Given the description of an element on the screen output the (x, y) to click on. 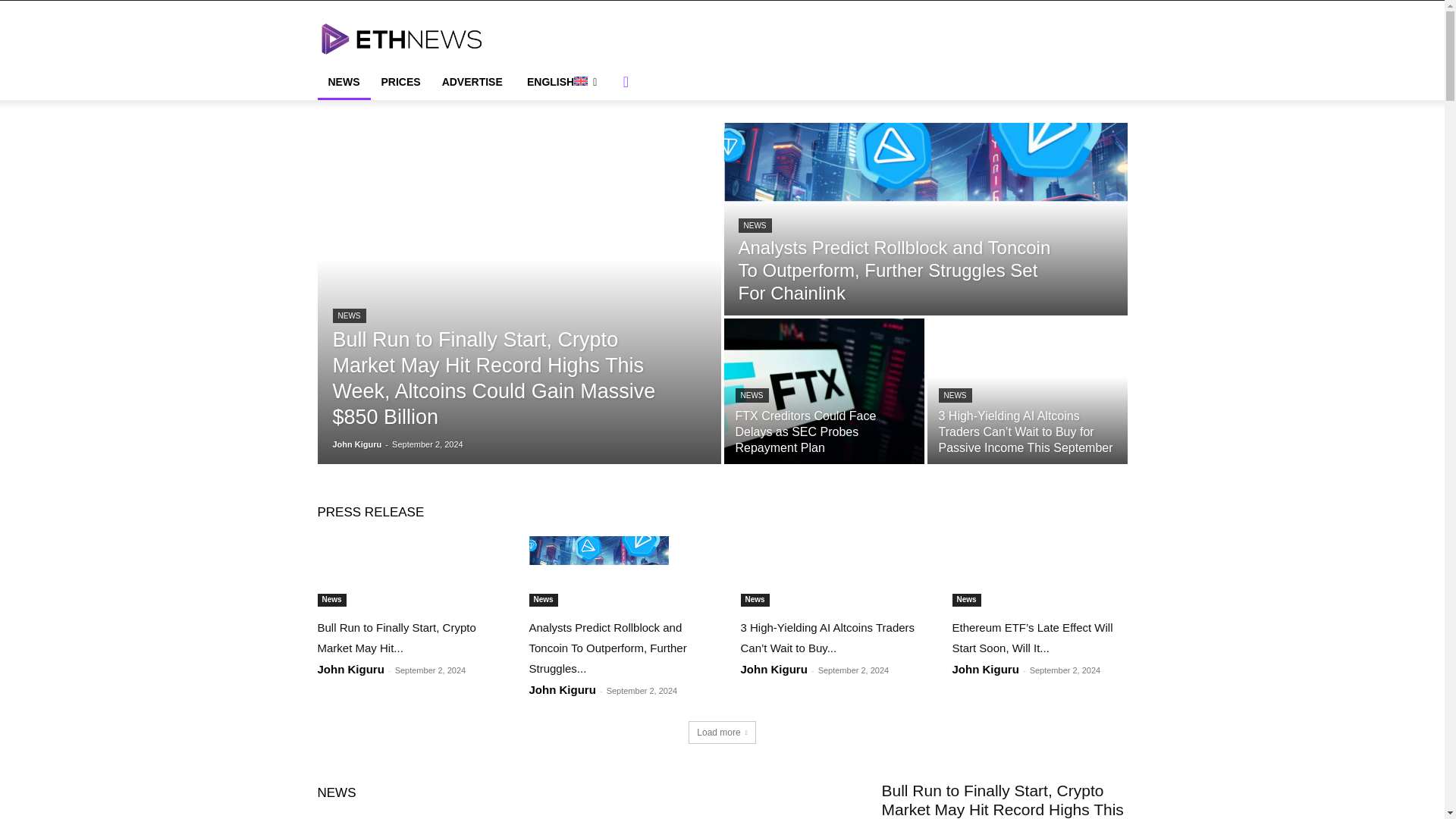
NEWS (955, 395)
English (560, 81)
FTX Creditors Could Face Delays as SEC Probes Repayment Plan (805, 431)
PRICES (399, 81)
NEWS (348, 315)
NEWS (751, 395)
John Kiguru (356, 443)
ENGLISH (560, 81)
